Given the description of an element on the screen output the (x, y) to click on. 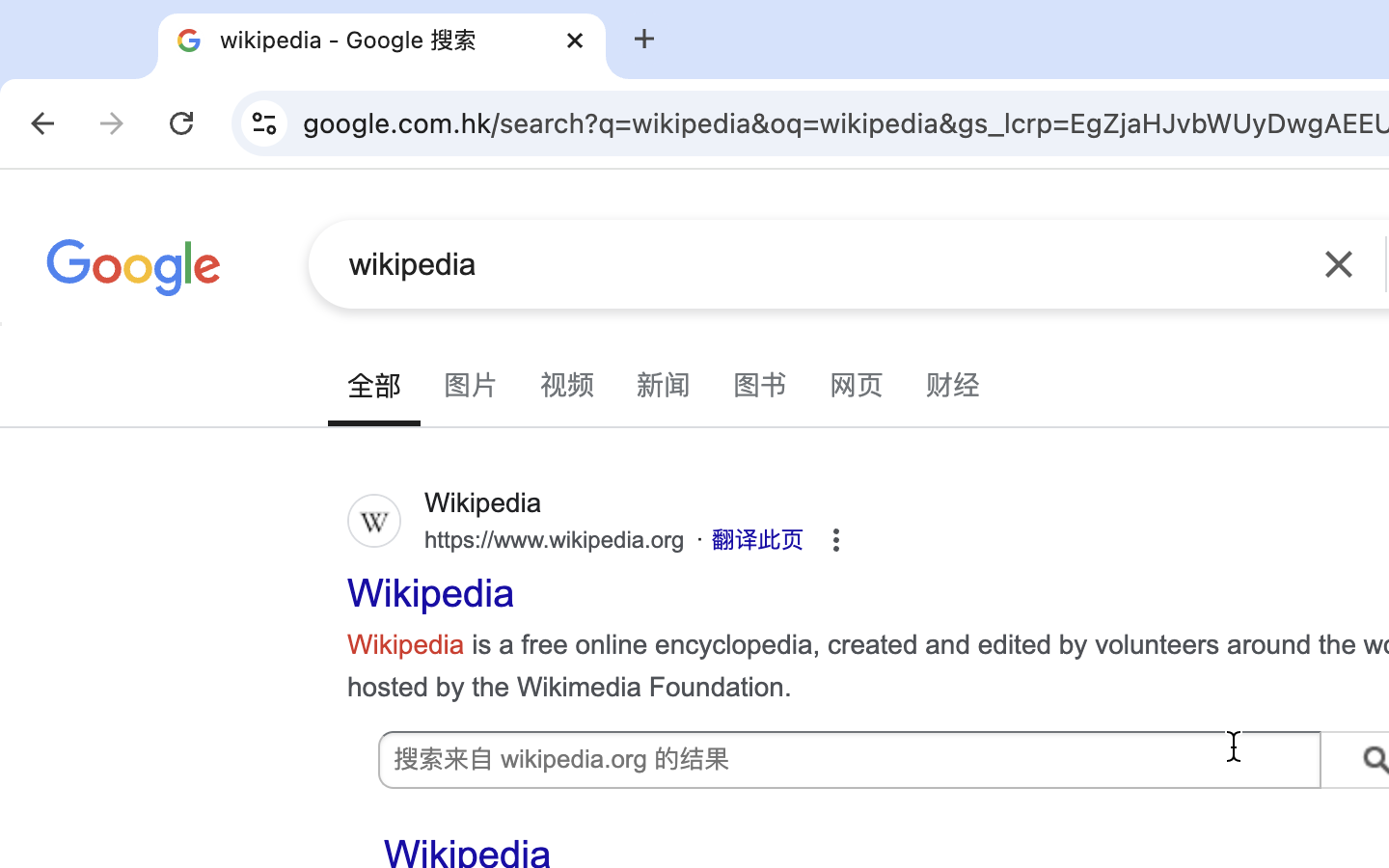
wikipedia Element type: AXTextArea (820, 263)
True Element type: AXRadioButton (381, 41)
